Given the description of an element on the screen output the (x, y) to click on. 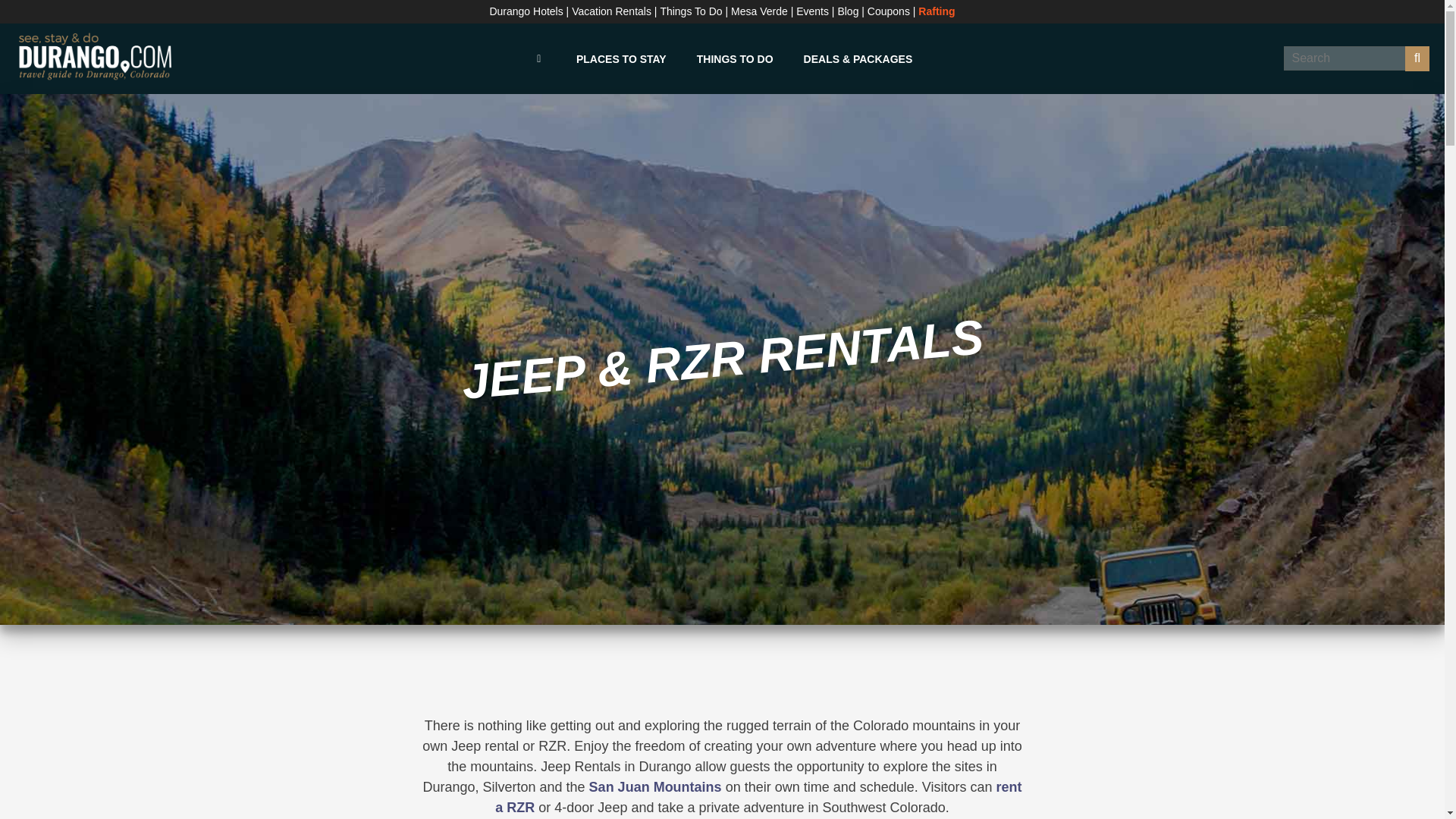
Vacation Rentals (611, 10)
PLACES TO STAY (620, 58)
Blog (848, 10)
Durango Hotels (525, 10)
Events (812, 10)
Mesa Verde (758, 10)
Coupons (888, 10)
Rafting (936, 10)
Things To Do (690, 10)
THINGS TO DO (735, 58)
